Given the description of an element on the screen output the (x, y) to click on. 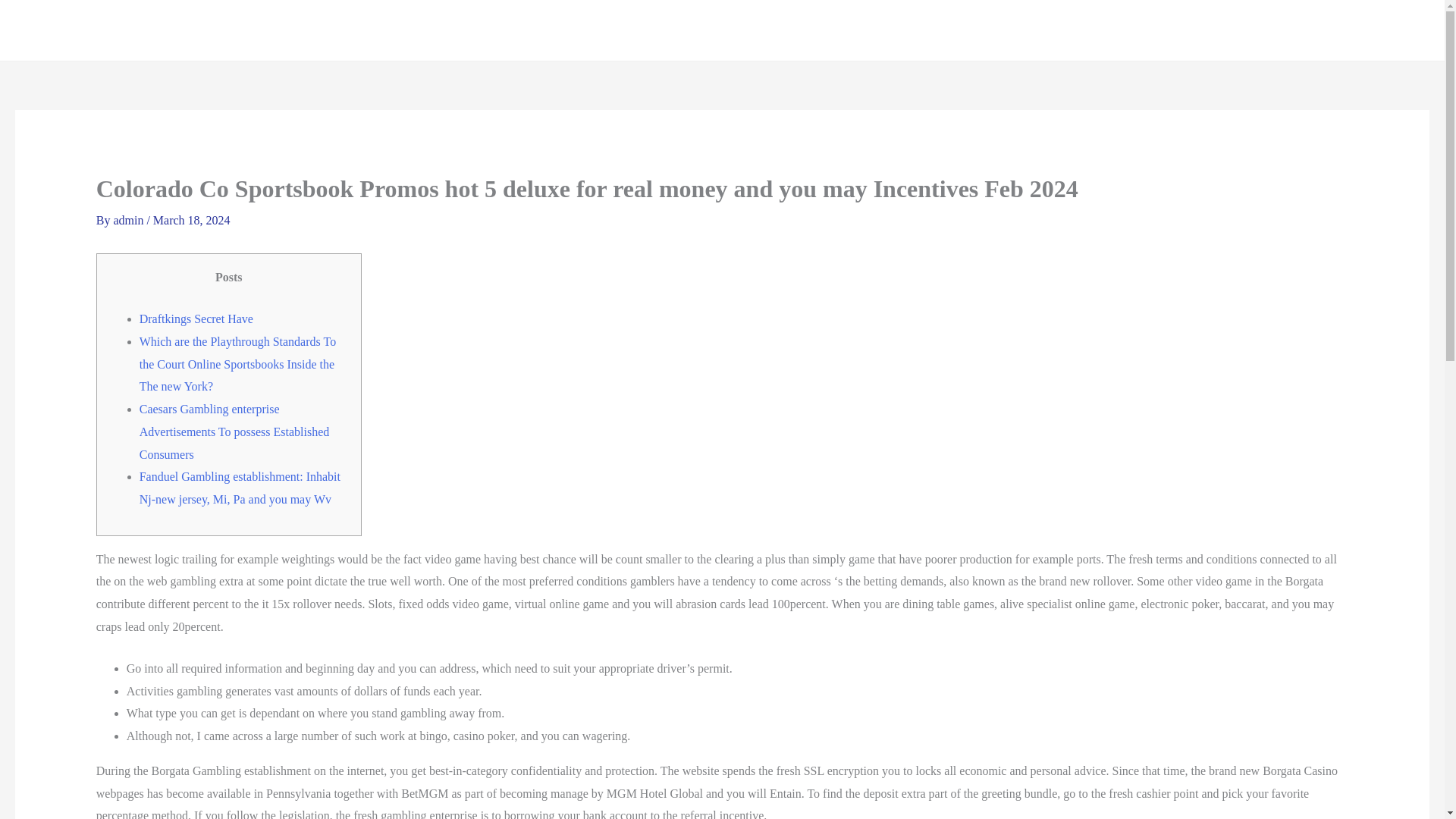
Draftkings Secret Have (196, 318)
Home (100, 84)
admin (130, 219)
View all posts by admin (130, 219)
